Given the description of an element on the screen output the (x, y) to click on. 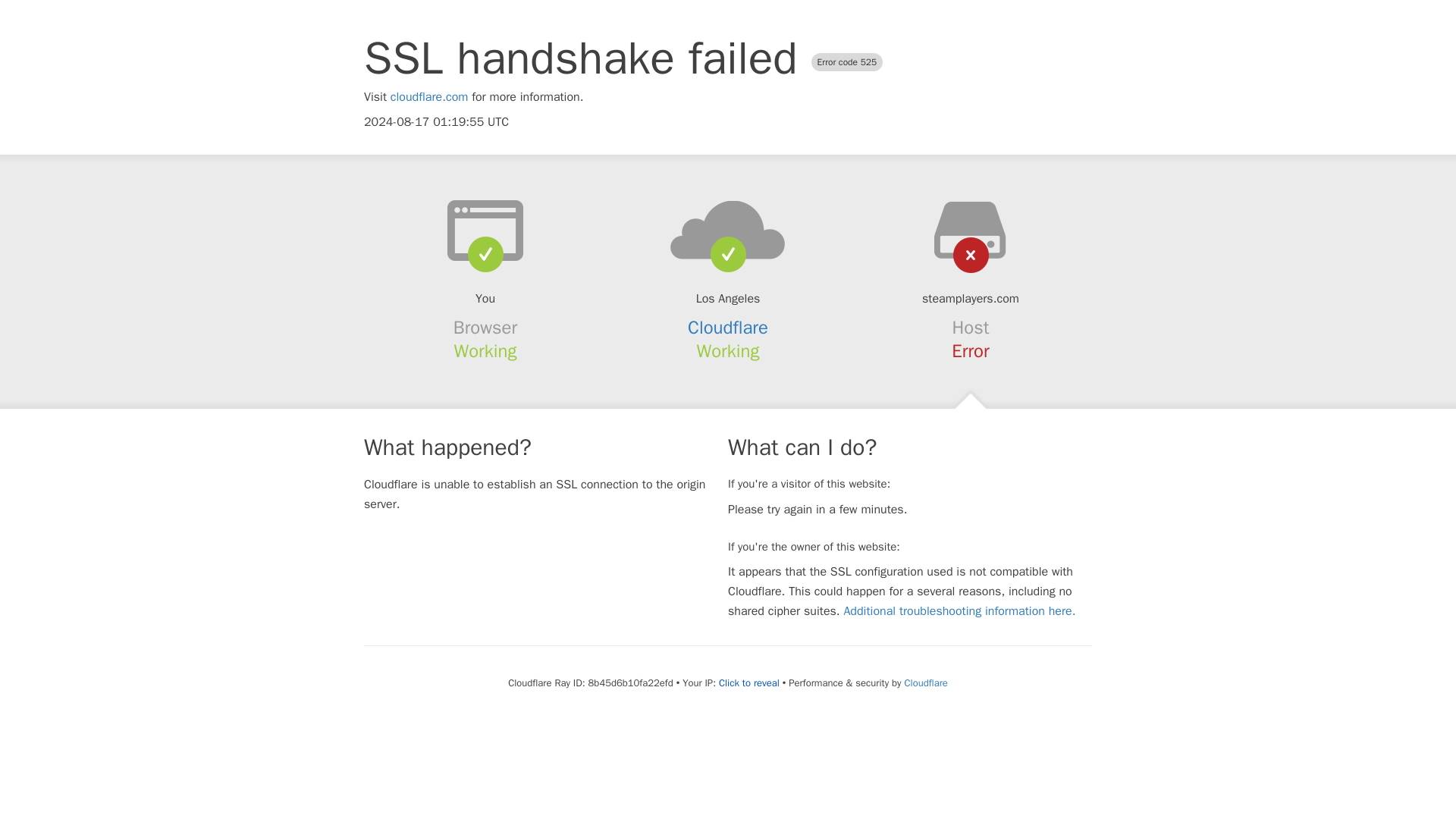
Click to reveal (748, 683)
Cloudflare (727, 327)
cloudflare.com (429, 96)
Additional troubleshooting information here. (959, 611)
Cloudflare (925, 682)
